Given the description of an element on the screen output the (x, y) to click on. 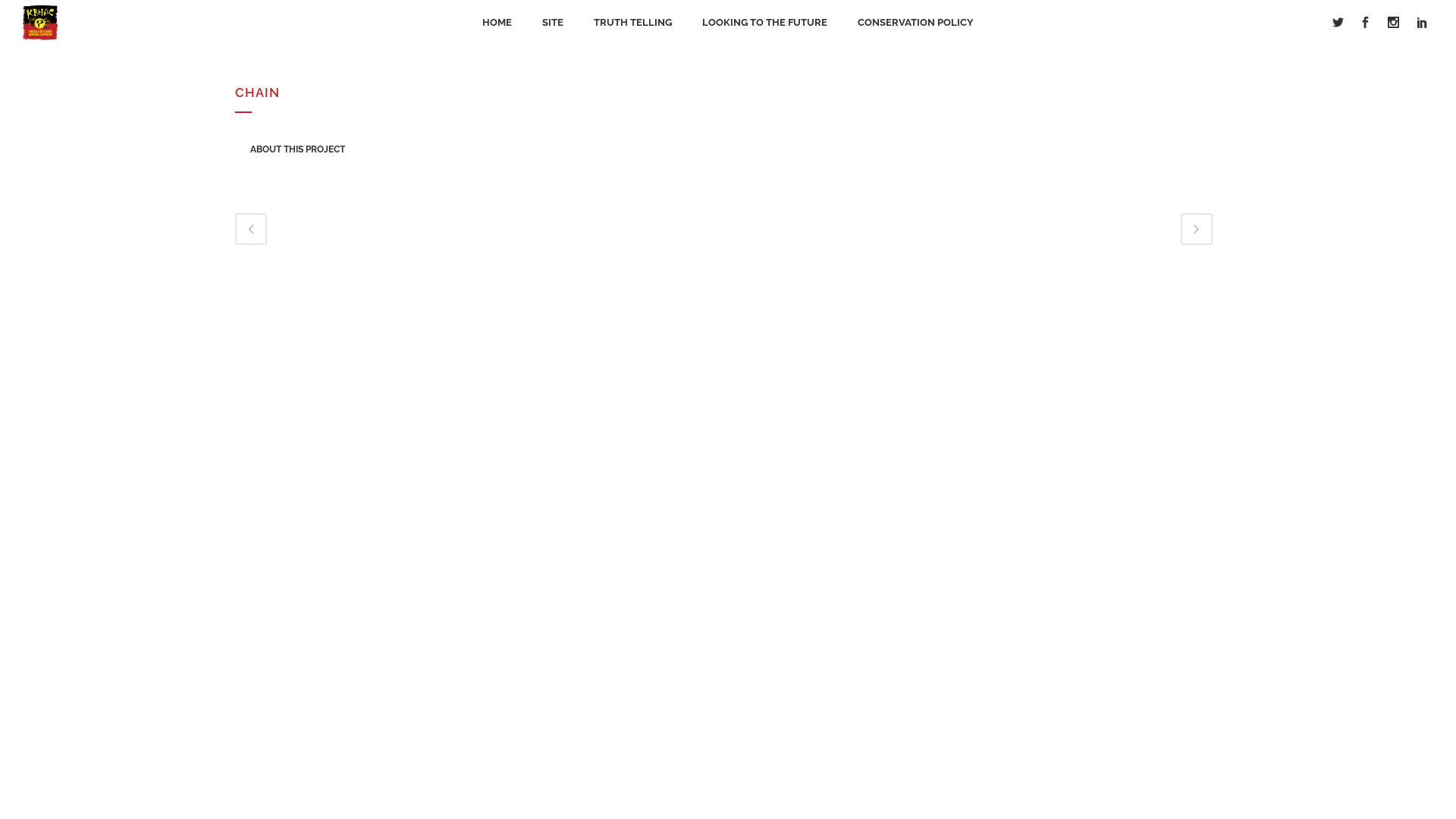
LOOKING TO THE FUTURE Element type: text (764, 22)
TRUTH TELLING Element type: text (632, 22)
HOME Element type: text (497, 22)
CONSERVATION POLICY Element type: text (915, 22)
SITE Element type: text (552, 22)
